Given the description of an element on the screen output the (x, y) to click on. 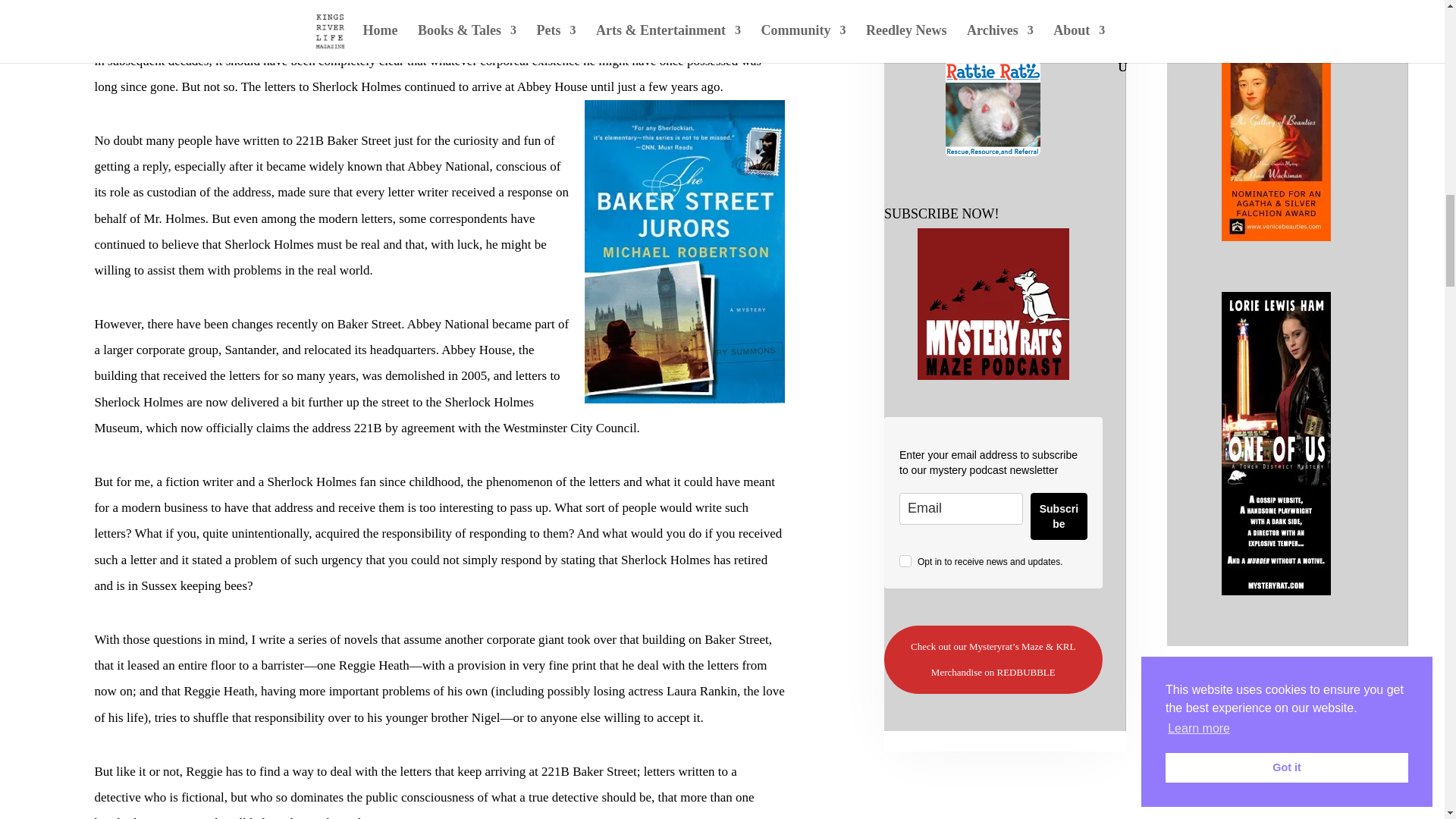
Subscribe now! (992, 304)
